Given the description of an element on the screen output the (x, y) to click on. 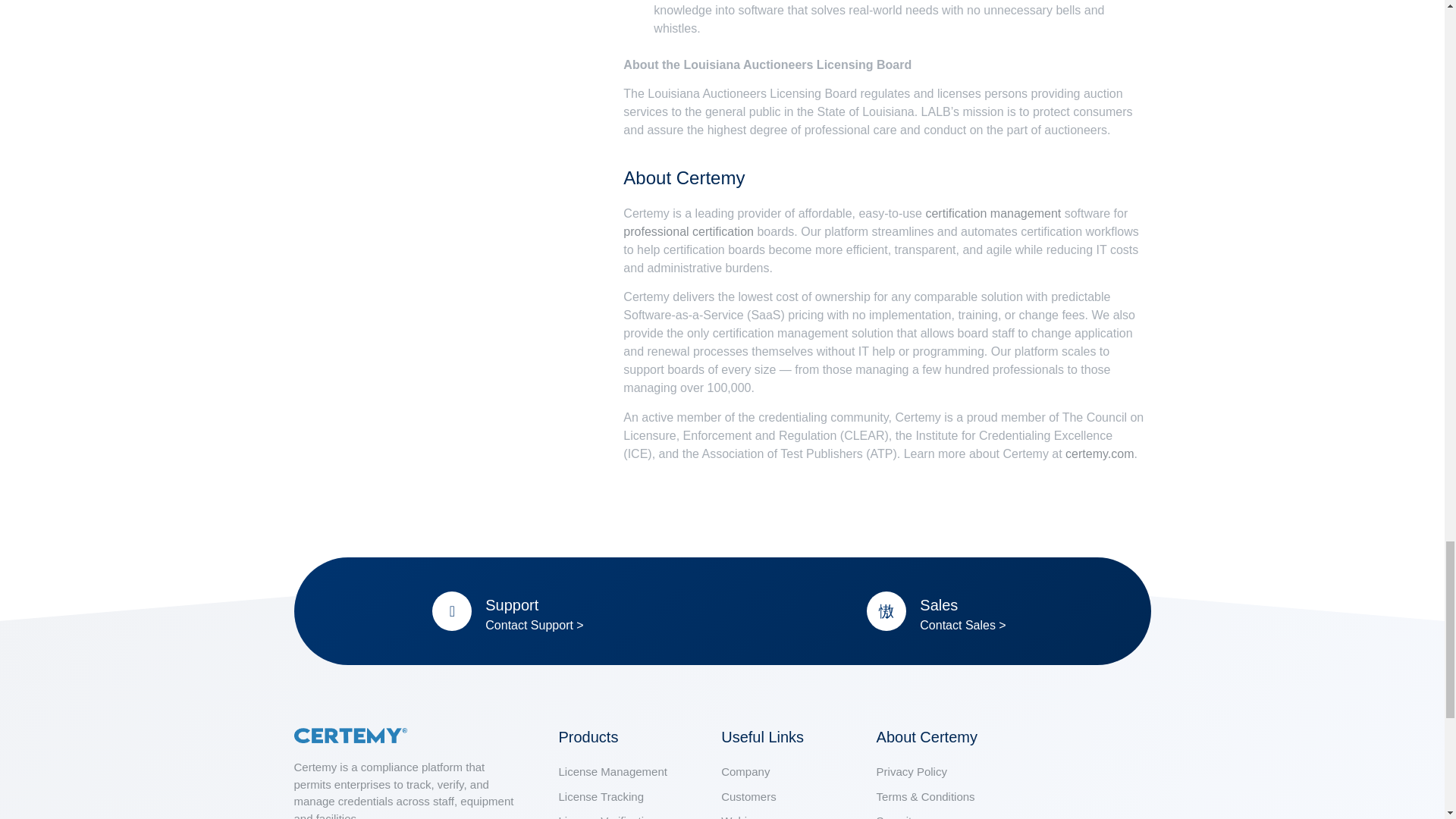
Professional Certification (688, 231)
Certification Management (992, 213)
certemy.com (1099, 453)
professional certification (688, 231)
certification management (992, 213)
